Given the description of an element on the screen output the (x, y) to click on. 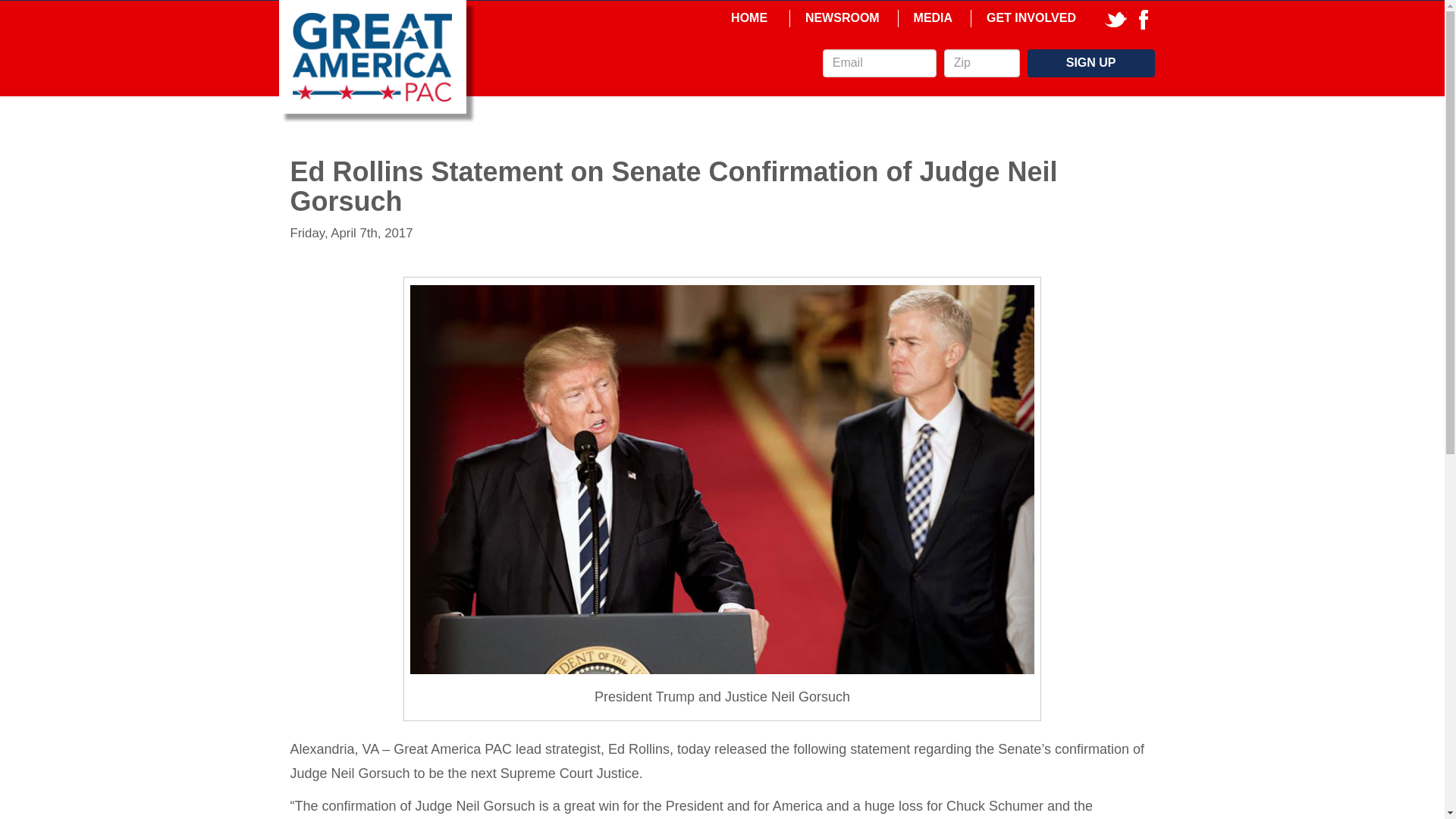
FACEBOOK (1143, 19)
MEDIA (933, 18)
Great America PAC (372, 56)
NEWSROOM (842, 18)
TWITTER (1115, 19)
HOME (749, 18)
GET INVOLVED (1030, 18)
Sign Up (1090, 62)
Sign Up (1090, 62)
